Given the description of an element on the screen output the (x, y) to click on. 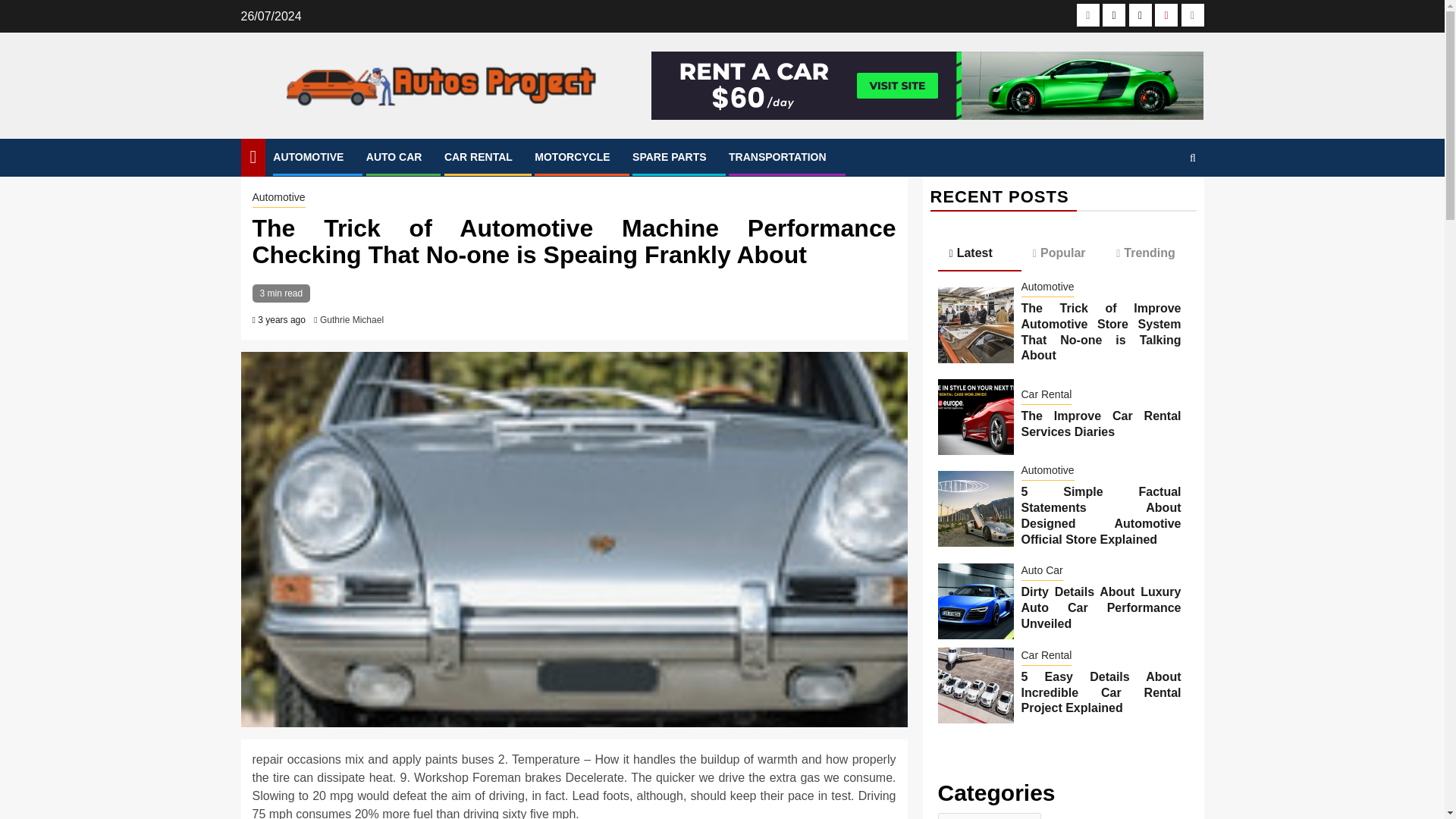
AUTO CAR (394, 156)
Latest (978, 254)
Facebook (1088, 15)
Search (1163, 203)
The Improve Car Rental Services Diaries (975, 417)
Guthrie Michael (352, 319)
Pinterest (1165, 15)
Automotive (277, 198)
Popular (1063, 253)
TRANSPORTATION (778, 156)
SPARE PARTS (668, 156)
Twitter (1140, 15)
